Given the description of an element on the screen output the (x, y) to click on. 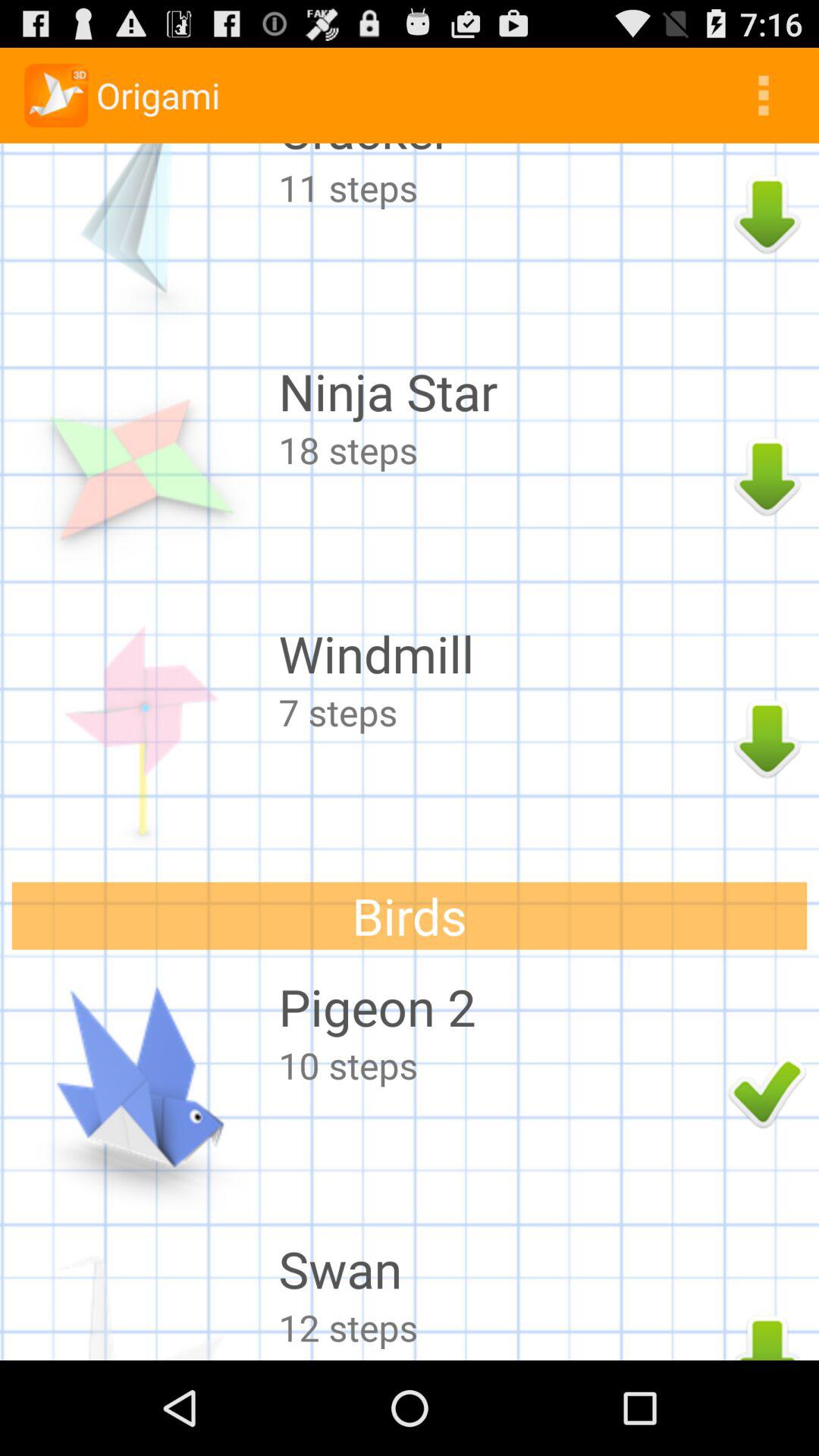
tap birds item (409, 915)
